Given the description of an element on the screen output the (x, y) to click on. 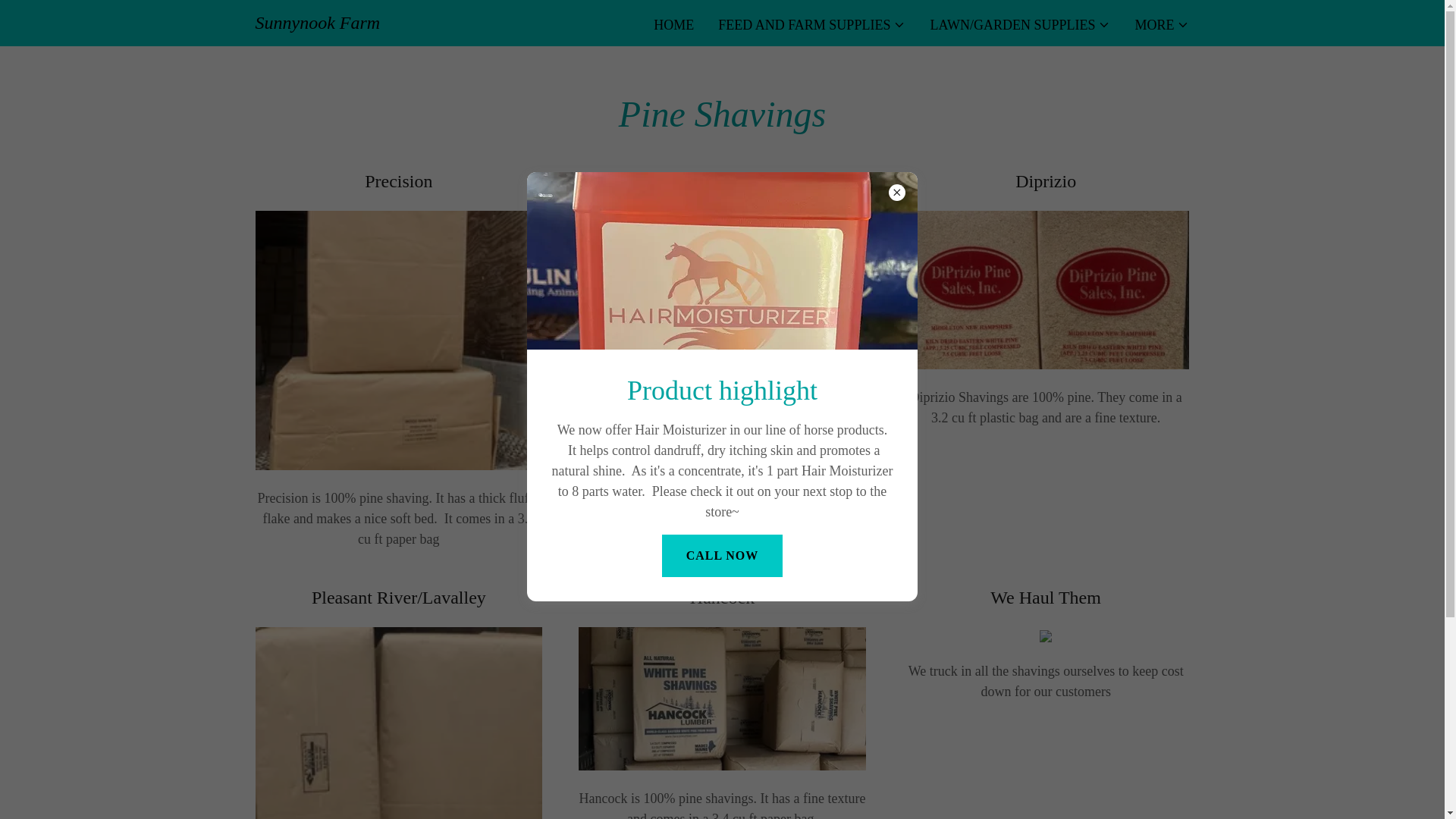
MORE (1161, 24)
FEED AND FARM SUPPLIES (811, 24)
HOME (673, 24)
Sunnynook Farm (317, 23)
Sunnynook Farm (317, 23)
